Given the description of an element on the screen output the (x, y) to click on. 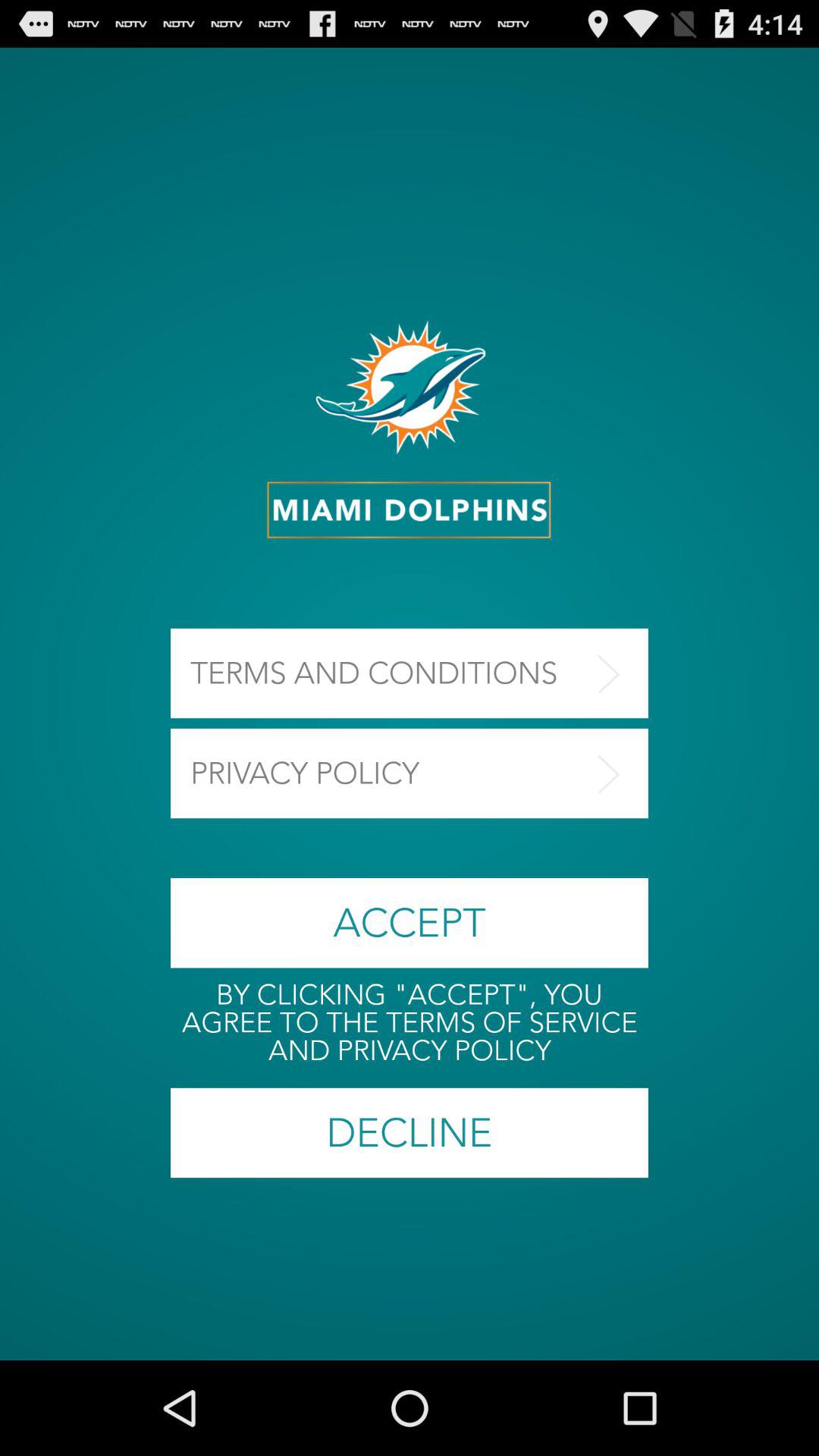
turn off decline button (409, 1132)
